Given the description of an element on the screen output the (x, y) to click on. 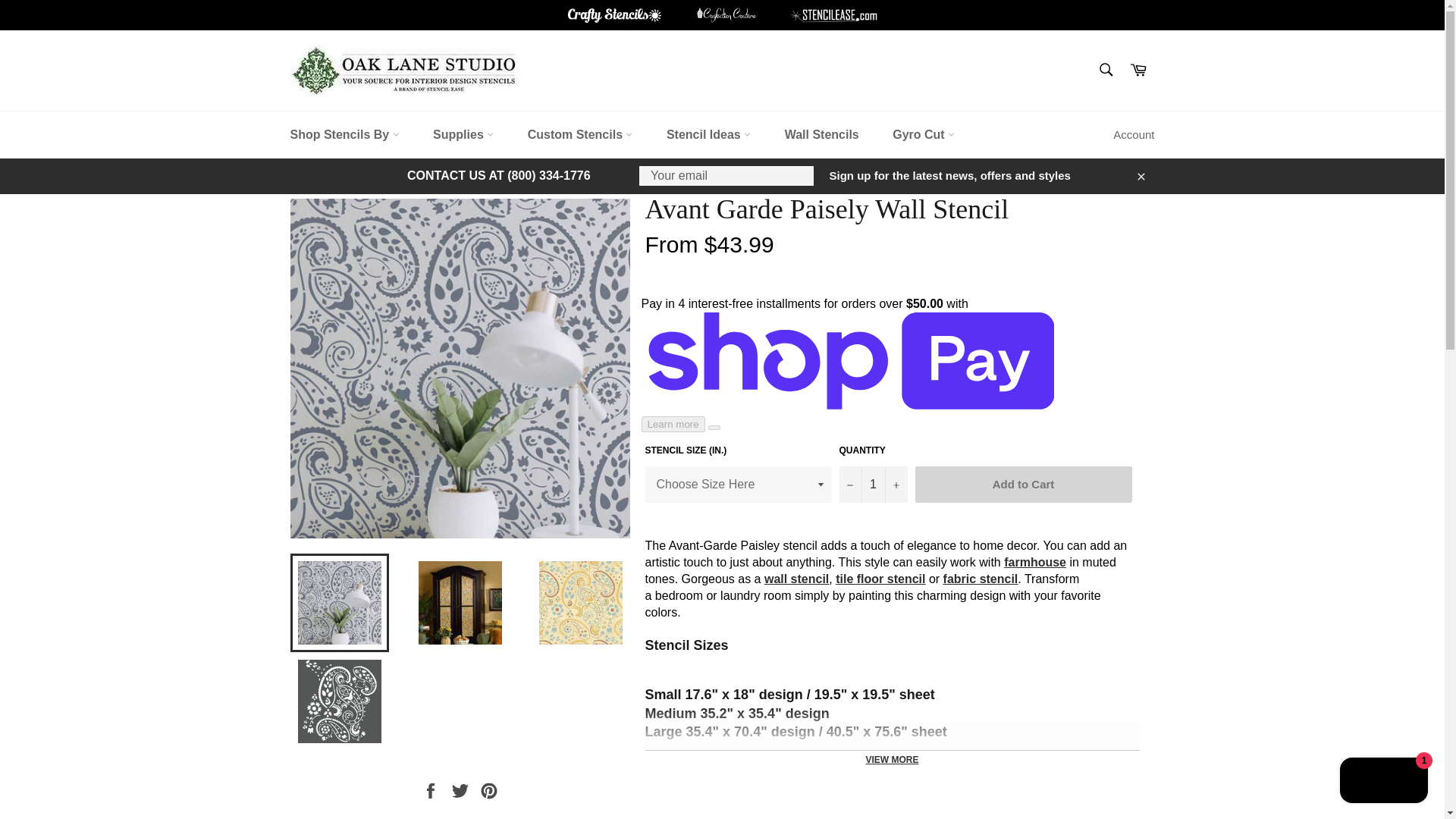
1 (872, 484)
Shop Stencils By (344, 134)
